Given the description of an element on the screen output the (x, y) to click on. 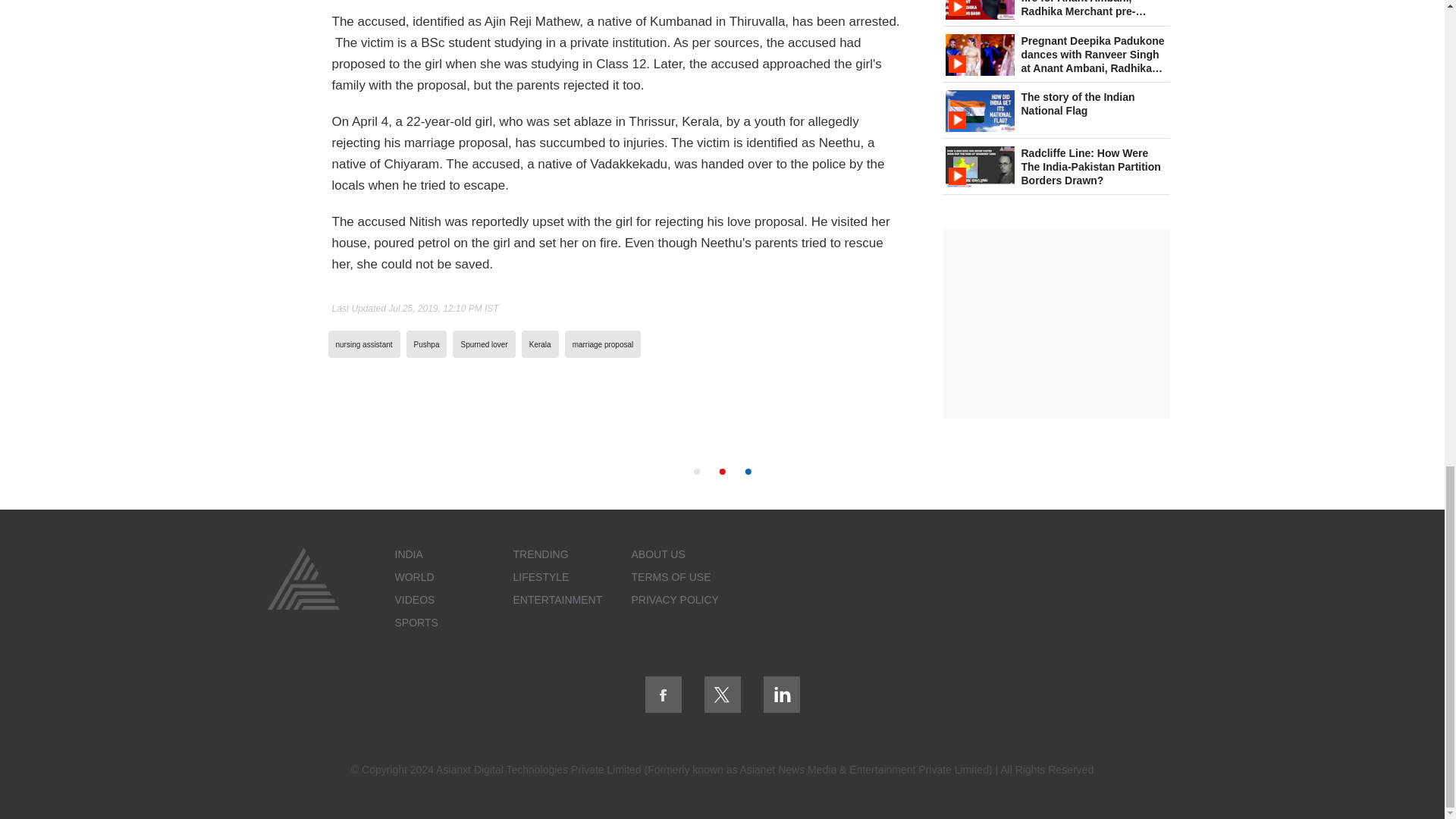
Kerala (540, 344)
marriage proposal (602, 344)
Pushpa (426, 344)
Spurned lover (483, 344)
nursing assistant (362, 344)
